Given the description of an element on the screen output the (x, y) to click on. 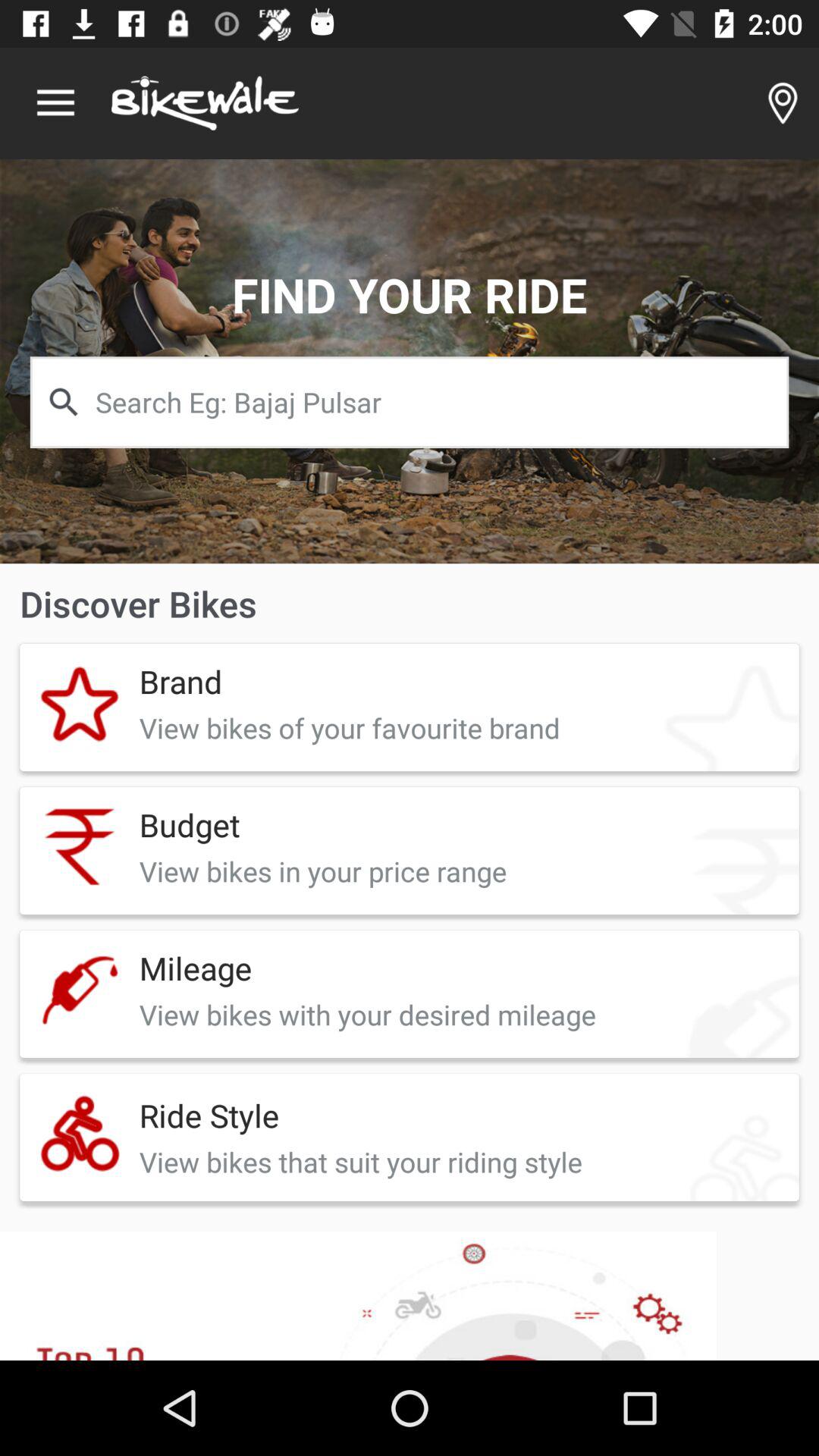
turn on item at the top right corner (782, 103)
